Given the description of an element on the screen output the (x, y) to click on. 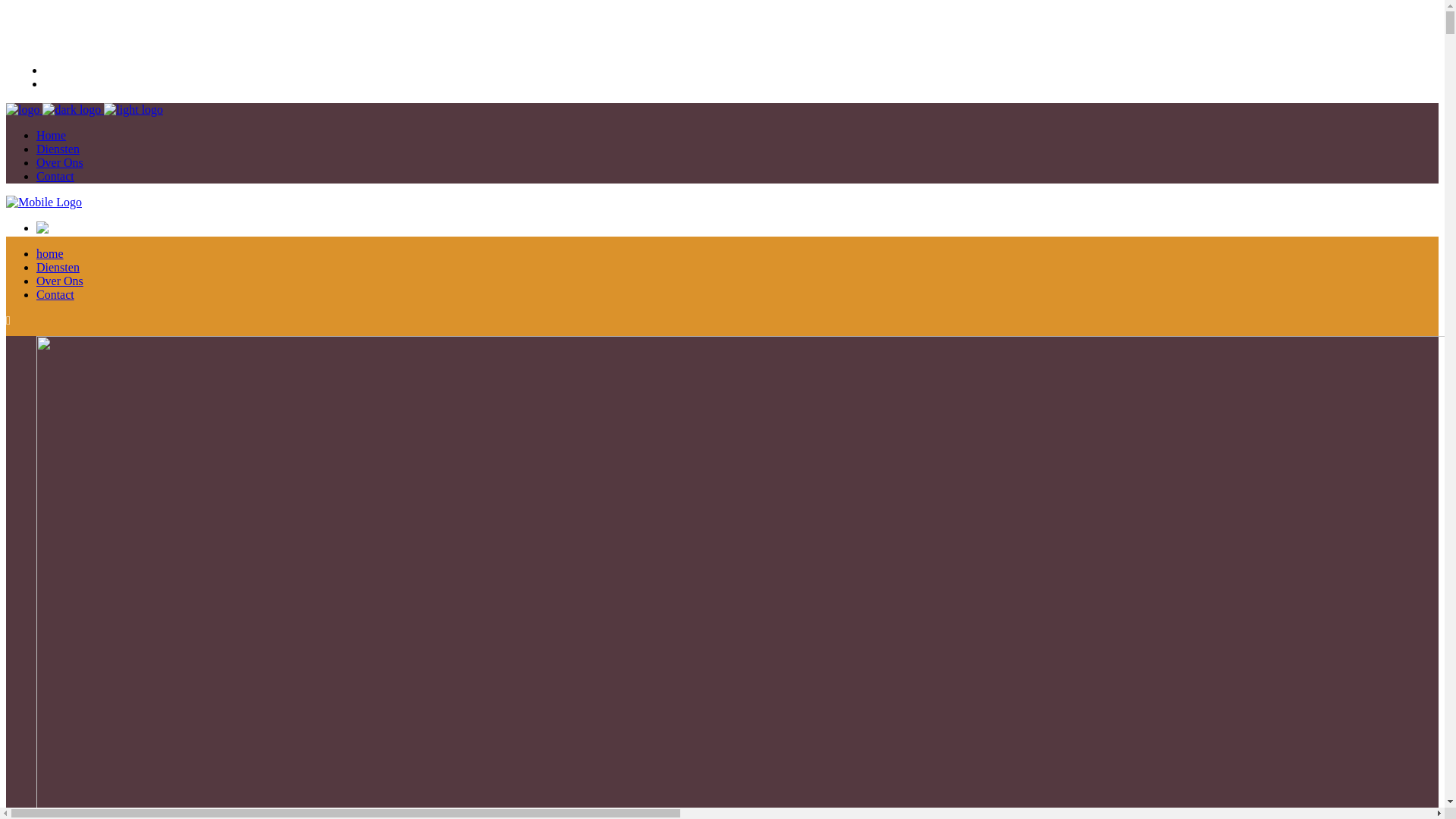
FR Element type: text (58, 83)
Diensten Element type: text (57, 266)
Diensten Element type: text (57, 148)
Over Ons Element type: text (59, 162)
home Element type: text (49, 253)
Over Ons Element type: text (59, 280)
Home Element type: text (50, 134)
Contact Element type: text (55, 294)
NL Element type: text (59, 69)
Contact Element type: text (55, 175)
